Given the description of an element on the screen output the (x, y) to click on. 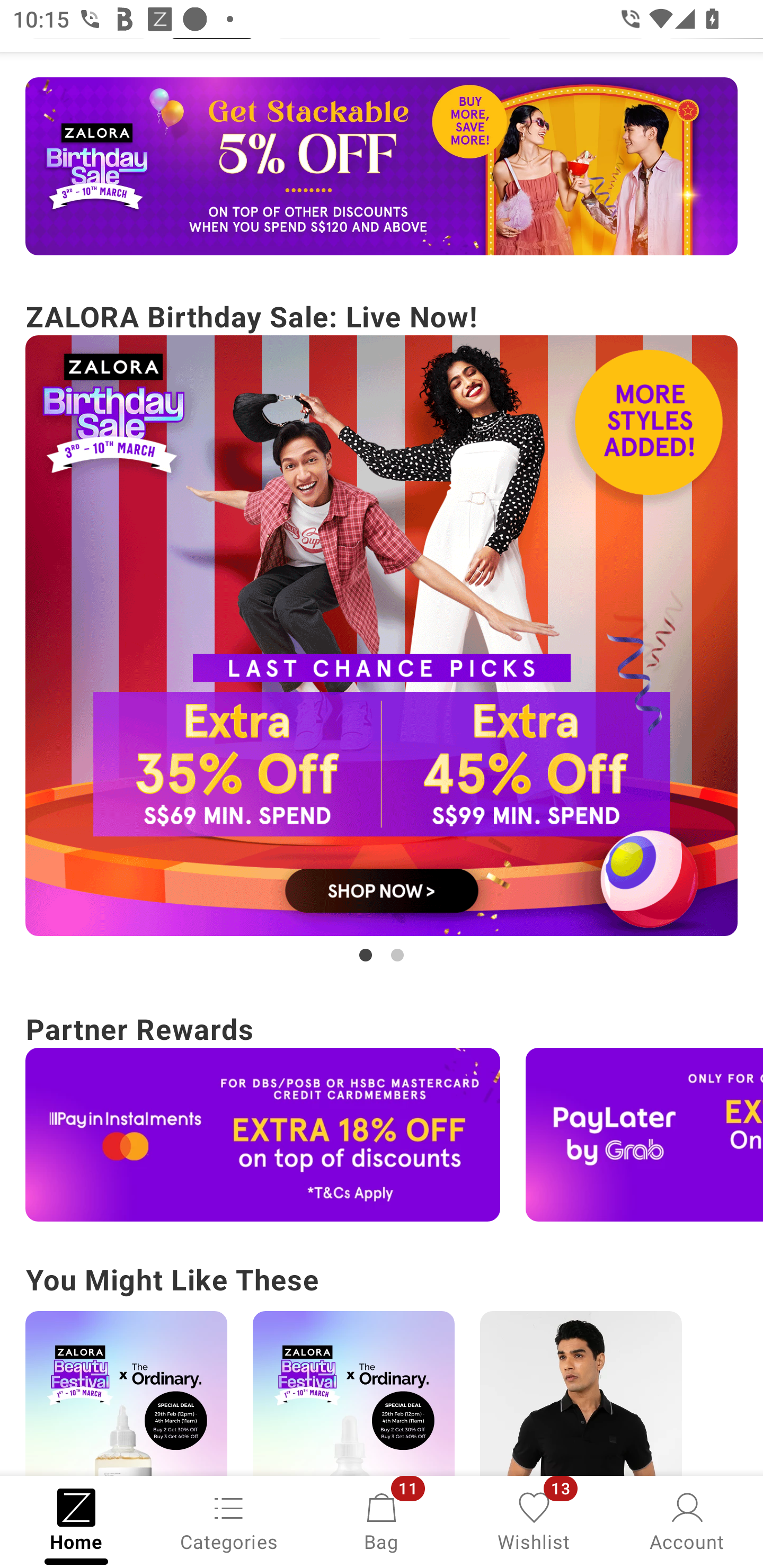
Campaign banner (381, 165)
ZALORA Birthday Sale: Live Now! Campaign banner (381, 630)
Campaign banner (381, 635)
Partner Rewards Campaign banner Campaign banner (381, 1113)
Campaign banner (262, 1134)
Campaign banner (644, 1134)
Campaign banner (126, 1392)
Campaign banner (353, 1392)
Campaign banner (580, 1392)
Categories (228, 1519)
Bag, 11 new notifications Bag (381, 1519)
Wishlist, 13 new notifications Wishlist (533, 1519)
Account (686, 1519)
